Given the description of an element on the screen output the (x, y) to click on. 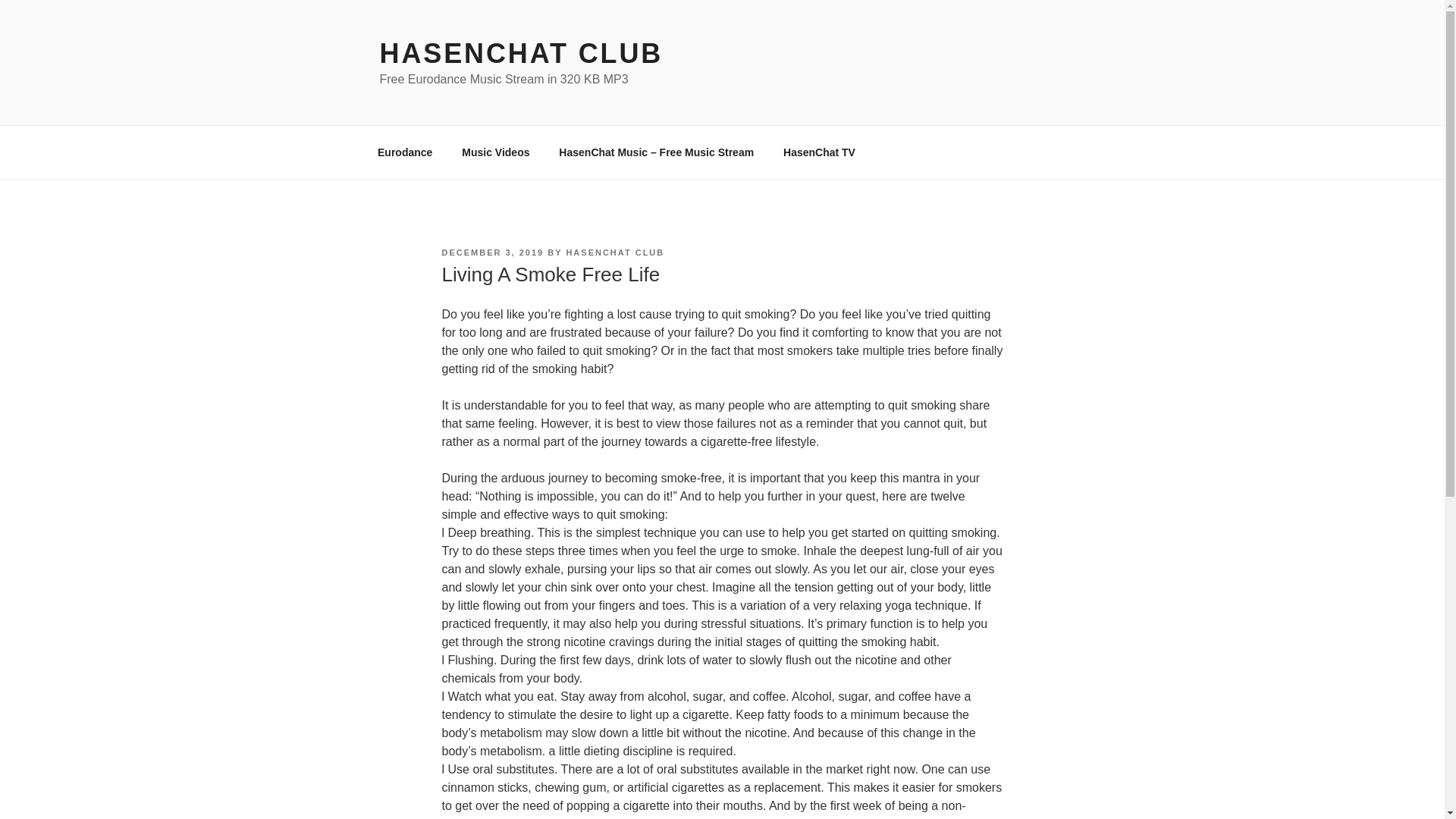
HASENCHAT CLUB (520, 52)
Eurodance (404, 151)
DECEMBER 3, 2019 (492, 252)
HasenChat TV (819, 151)
Music Videos (495, 151)
HASENCHAT CLUB (614, 252)
